Given the description of an element on the screen output the (x, y) to click on. 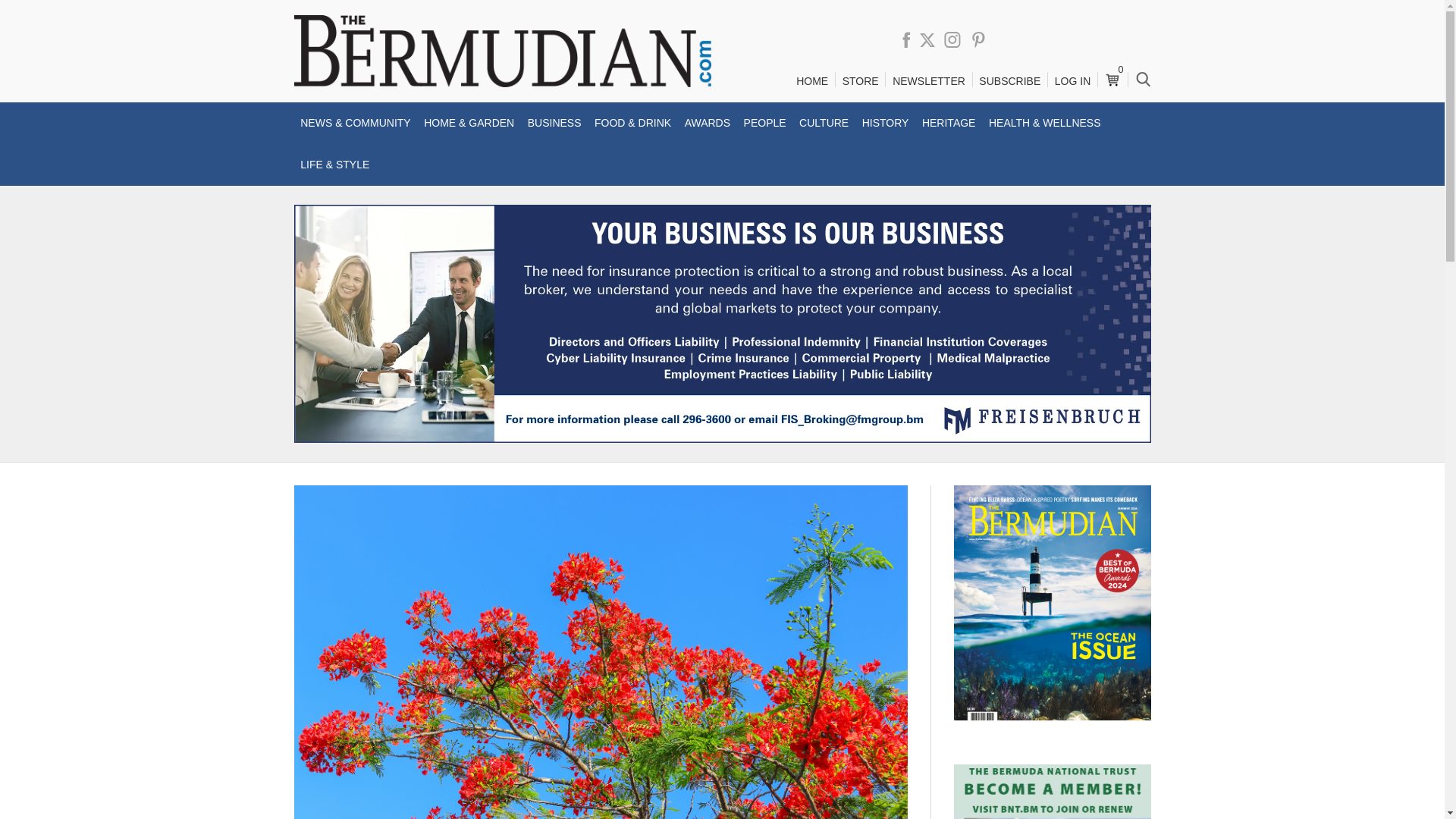
STORE (860, 81)
0 (1111, 75)
LOG IN (1072, 81)
PEOPLE (764, 123)
AWARDS (707, 123)
NEWSLETTER (928, 81)
BUSINESS (554, 123)
SUBSCRIBE (1009, 81)
CULTURE (824, 123)
HOME (811, 81)
